Given the description of an element on the screen output the (x, y) to click on. 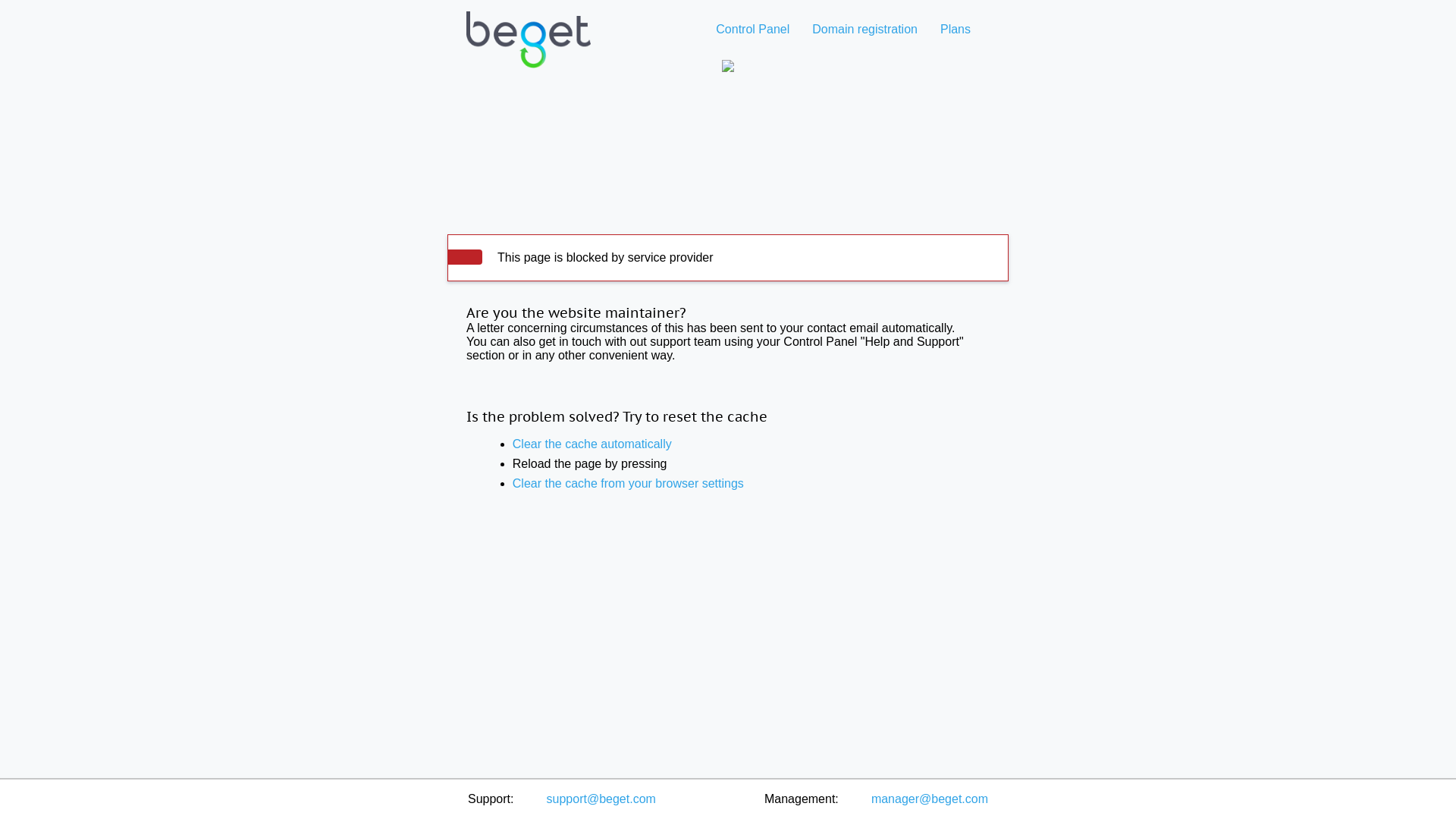
Control Panel Element type: text (752, 28)
Clear the cache from your browser settings Element type: text (627, 482)
Clear the cache automatically Element type: text (591, 443)
Web hosting home page Element type: hover (528, 52)
Plans Element type: text (955, 28)
manager@beget.com Element type: text (929, 798)
Domain registration Element type: text (864, 28)
support@beget.com Element type: text (600, 798)
